Given the description of an element on the screen output the (x, y) to click on. 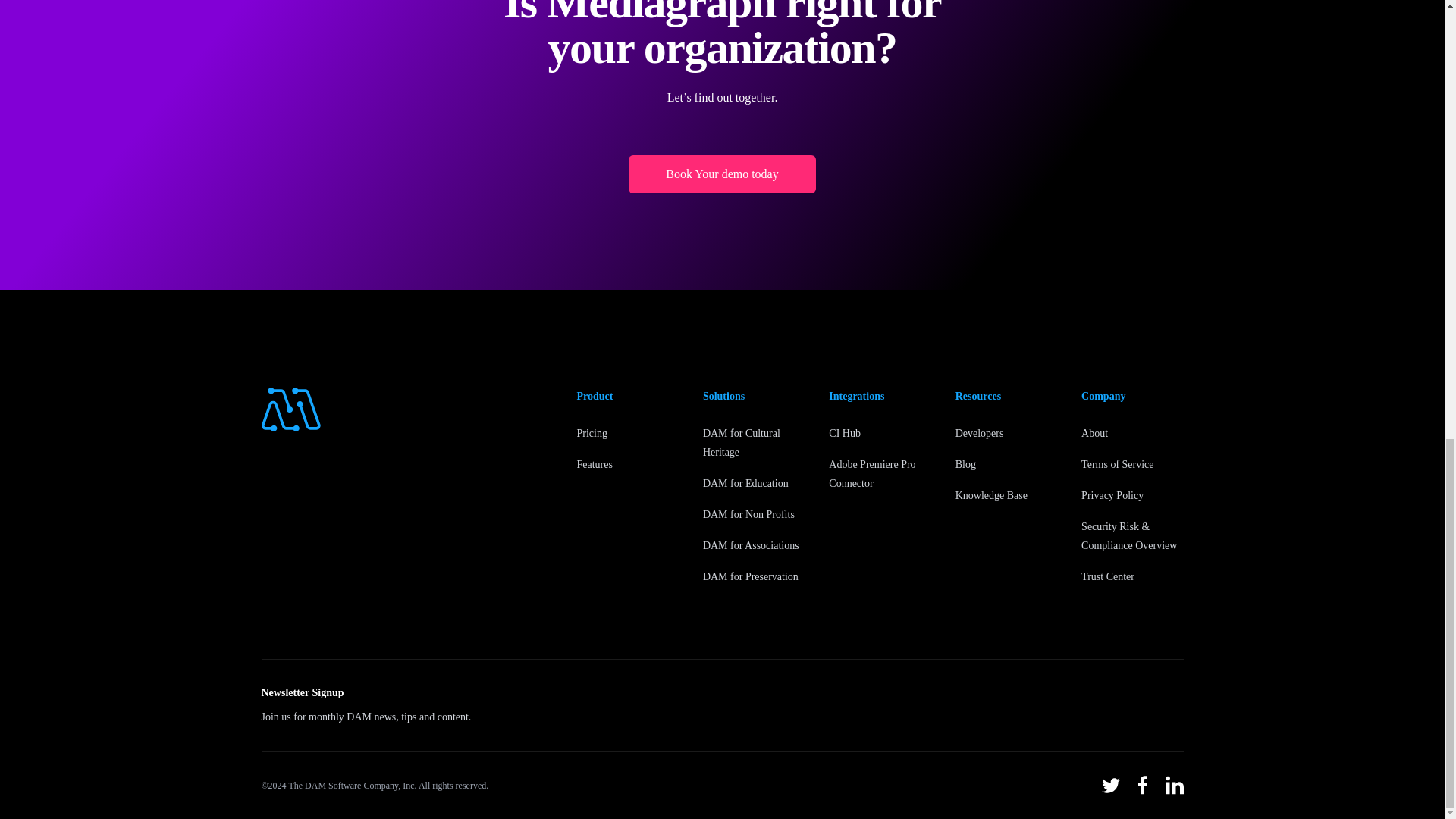
Pricing (591, 432)
Book Your demo today (721, 174)
Facebook (1142, 784)
Features (593, 464)
CI Hub (844, 432)
DAM for Non Profits (748, 514)
Adobe Premiere Pro Connector (871, 473)
Privacy Policy (1111, 495)
LinkedIn (1173, 784)
About (1094, 432)
Twitter (1109, 785)
DAM for Preservation (750, 576)
DAM for Cultural Heritage (741, 442)
Terms of Service (1117, 464)
Developers (979, 432)
